Given the description of an element on the screen output the (x, y) to click on. 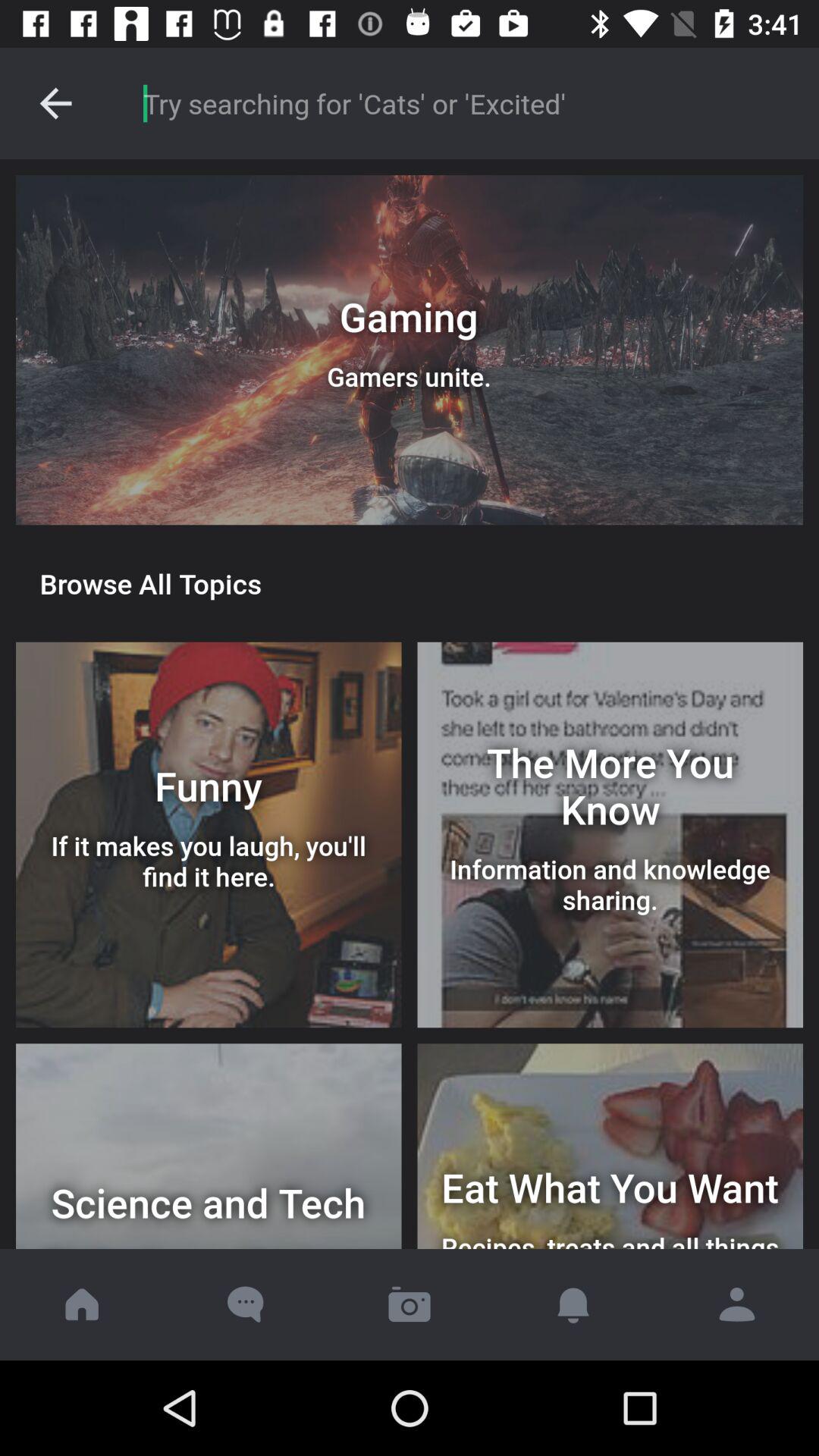
go home (81, 1304)
